Given the description of an element on the screen output the (x, y) to click on. 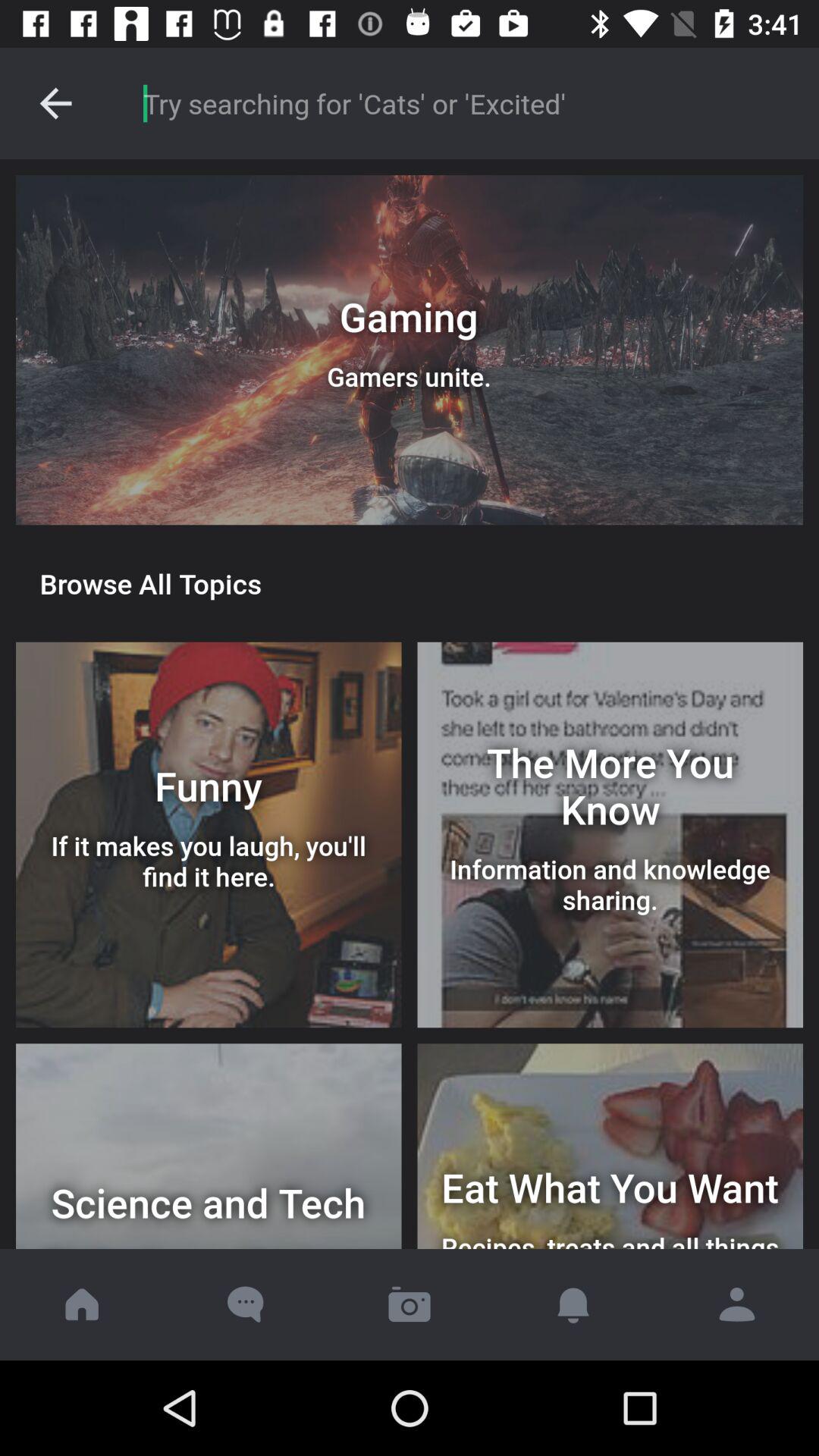
go home (81, 1304)
